Given the description of an element on the screen output the (x, y) to click on. 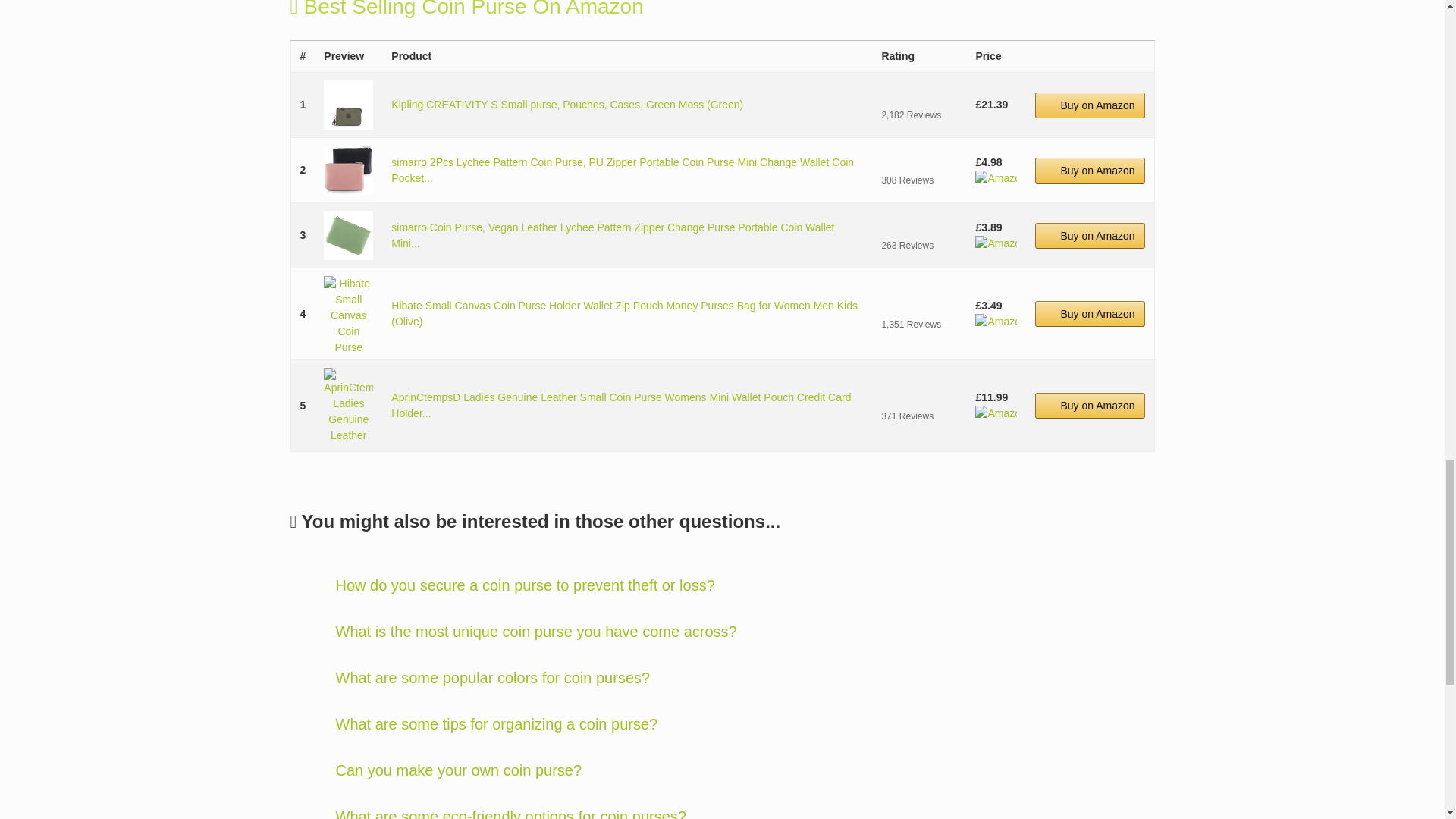
Buy on Amazon (1089, 235)
Buy on Amazon (1089, 170)
Reviews on Amazon (918, 161)
Reviews on Amazon (918, 96)
Amazon Prime (995, 243)
Buy on Amazon (1089, 104)
Reviews on Amazon (918, 305)
Amazon Prime (995, 177)
Reviews on Amazon (918, 227)
